Given the description of an element on the screen output the (x, y) to click on. 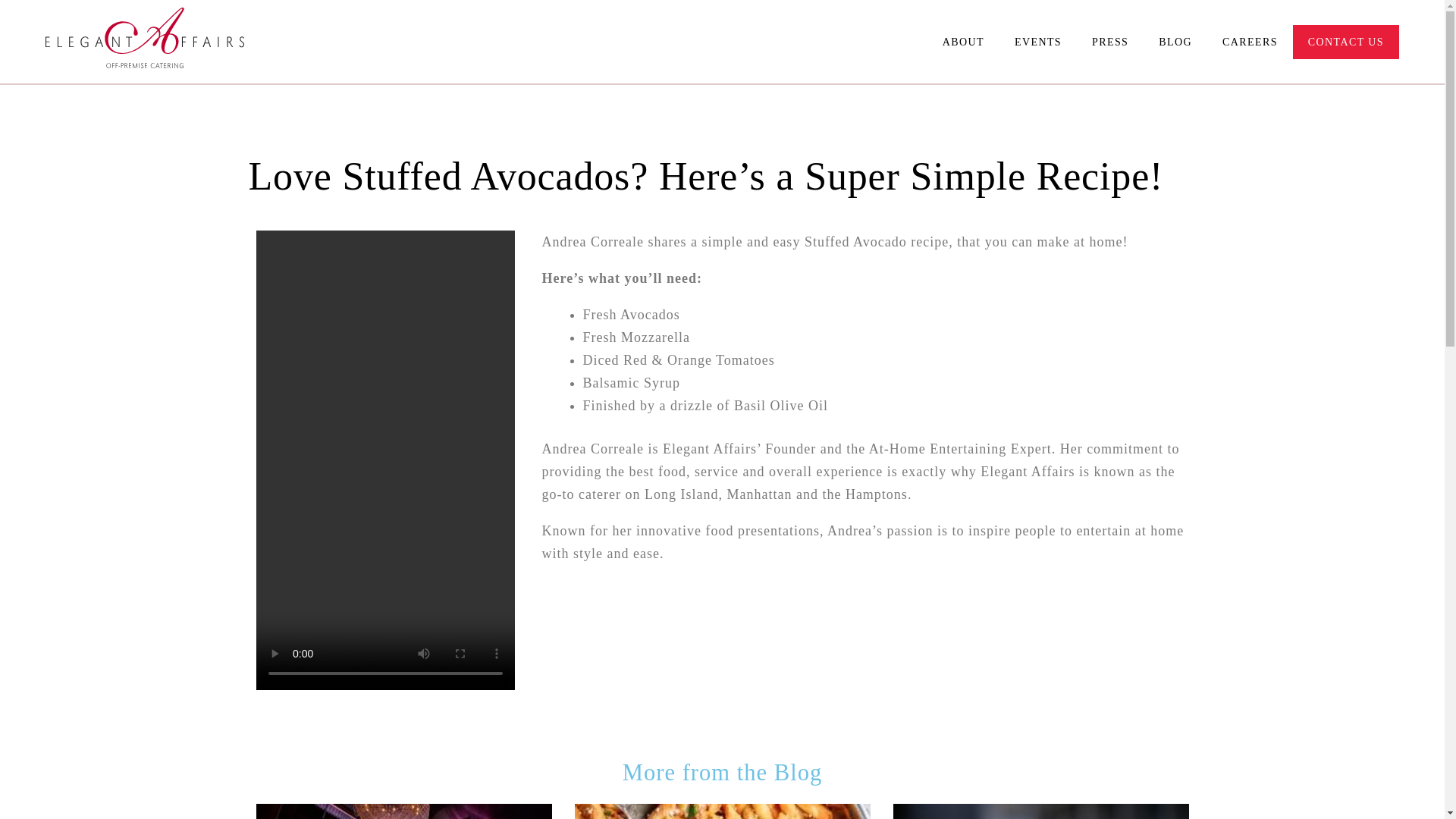
BLOG (1174, 17)
CONTACT US (1345, 21)
PRESS (1109, 16)
CAREERS (1249, 19)
EVENTS (1037, 9)
